Given the description of an element on the screen output the (x, y) to click on. 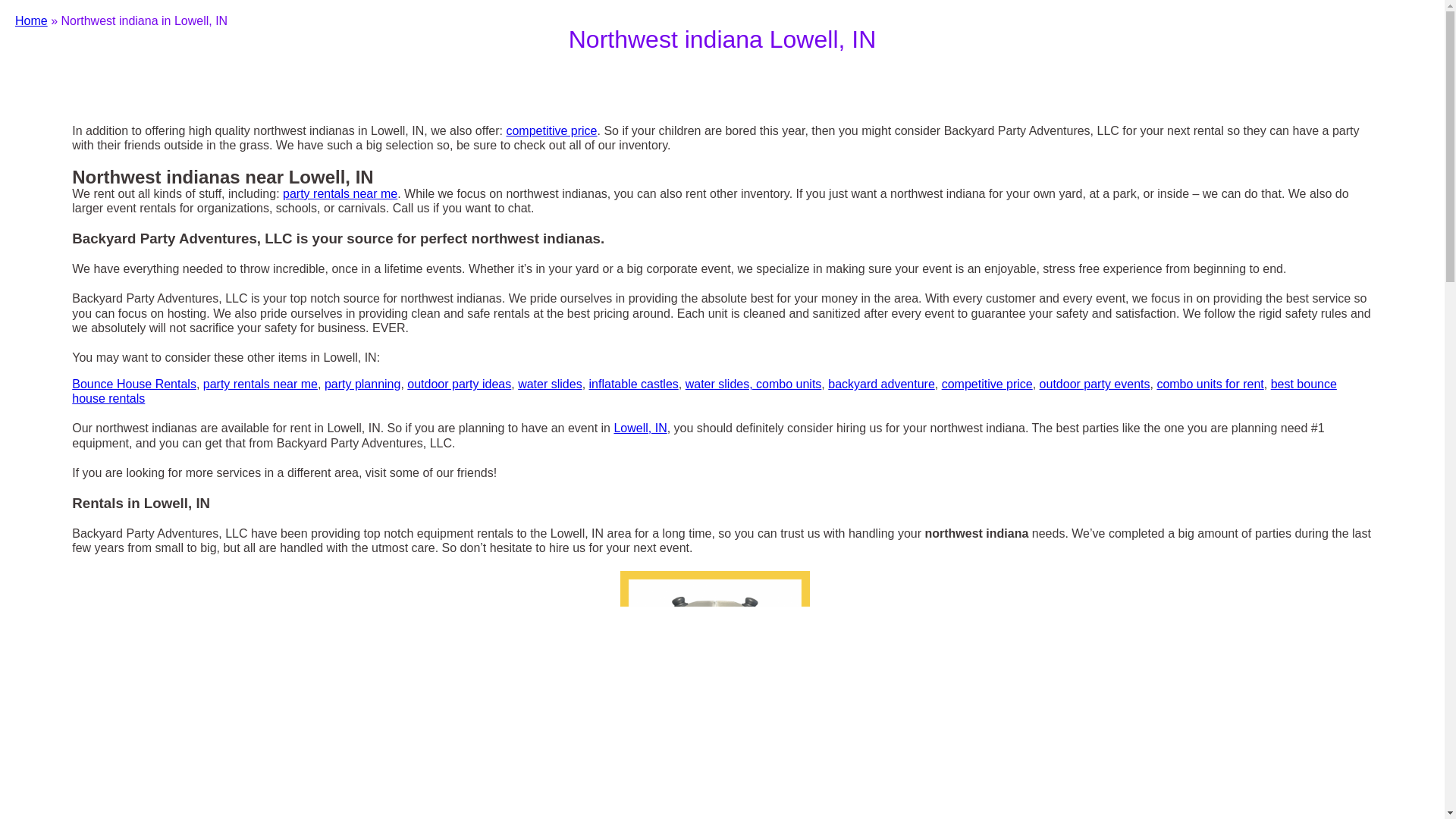
backyard adventure (881, 383)
water slides, combo units (753, 383)
best bounce house rentals (703, 390)
party planning (362, 383)
inflatable castles (633, 383)
Bounce House Rentals (133, 383)
competitive price (550, 130)
Home (31, 20)
party rentals near me (339, 193)
outdoor party events (1094, 383)
